Given the description of an element on the screen output the (x, y) to click on. 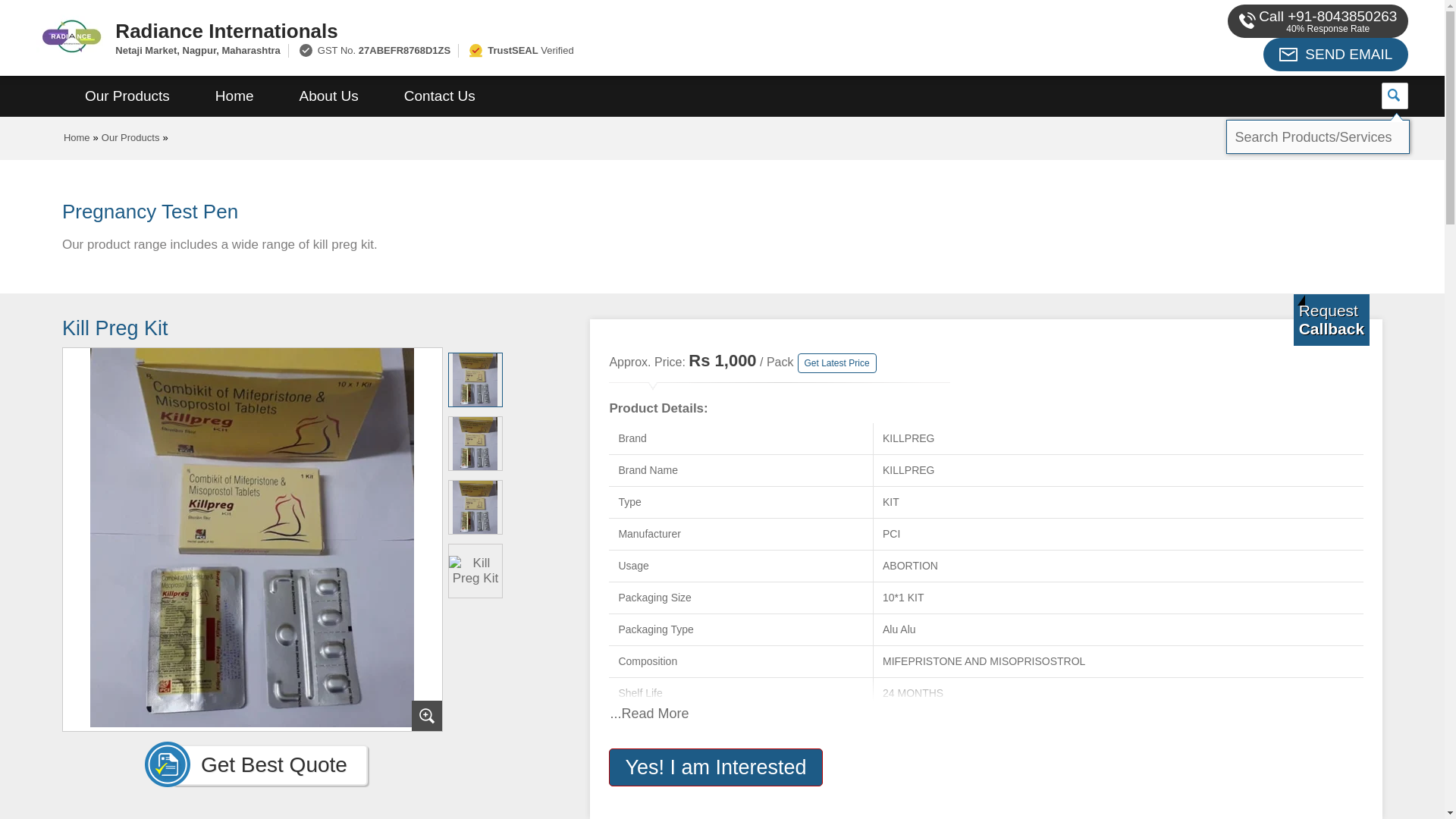
Radiance Internationals (552, 31)
Get a Call from us (1332, 319)
Our Products (127, 96)
